Given the description of an element on the screen output the (x, y) to click on. 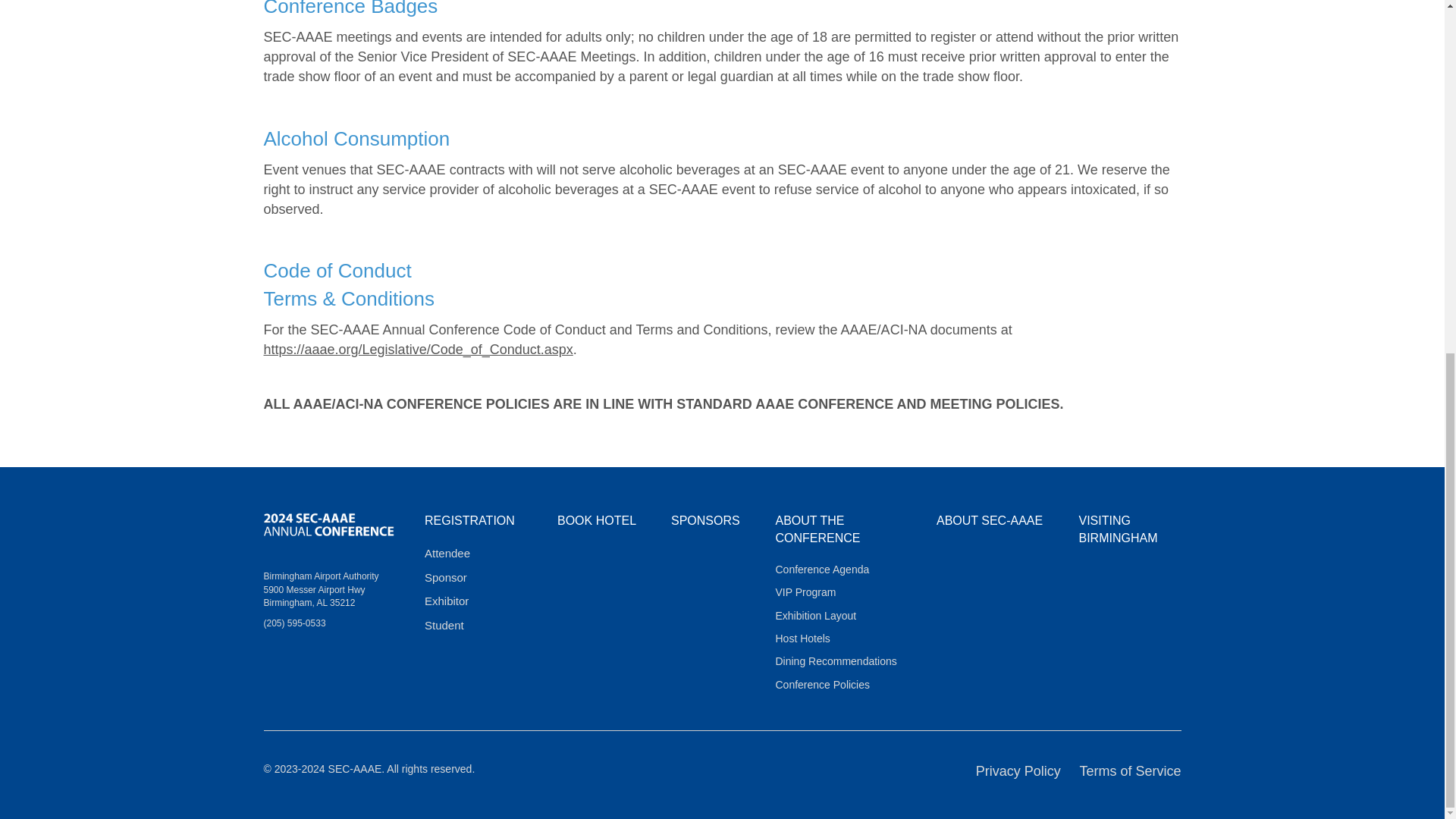
Privacy Policy (1018, 770)
Student (444, 625)
VISITING BIRMINGHAM (1117, 528)
ABOUT SEC-AAAE (989, 520)
Sponsor (446, 576)
BOOK HOTEL (596, 520)
SPONSORS (705, 520)
Host Hotels (801, 638)
ABOUT SEC-AAAE (989, 520)
New-Main-Header-Title-stacked-250 (328, 525)
Conference Agenda (821, 569)
Attendee (447, 553)
Exhibitor (446, 600)
Conference Policies (821, 684)
Exhibition Layout (815, 615)
